Given the description of an element on the screen output the (x, y) to click on. 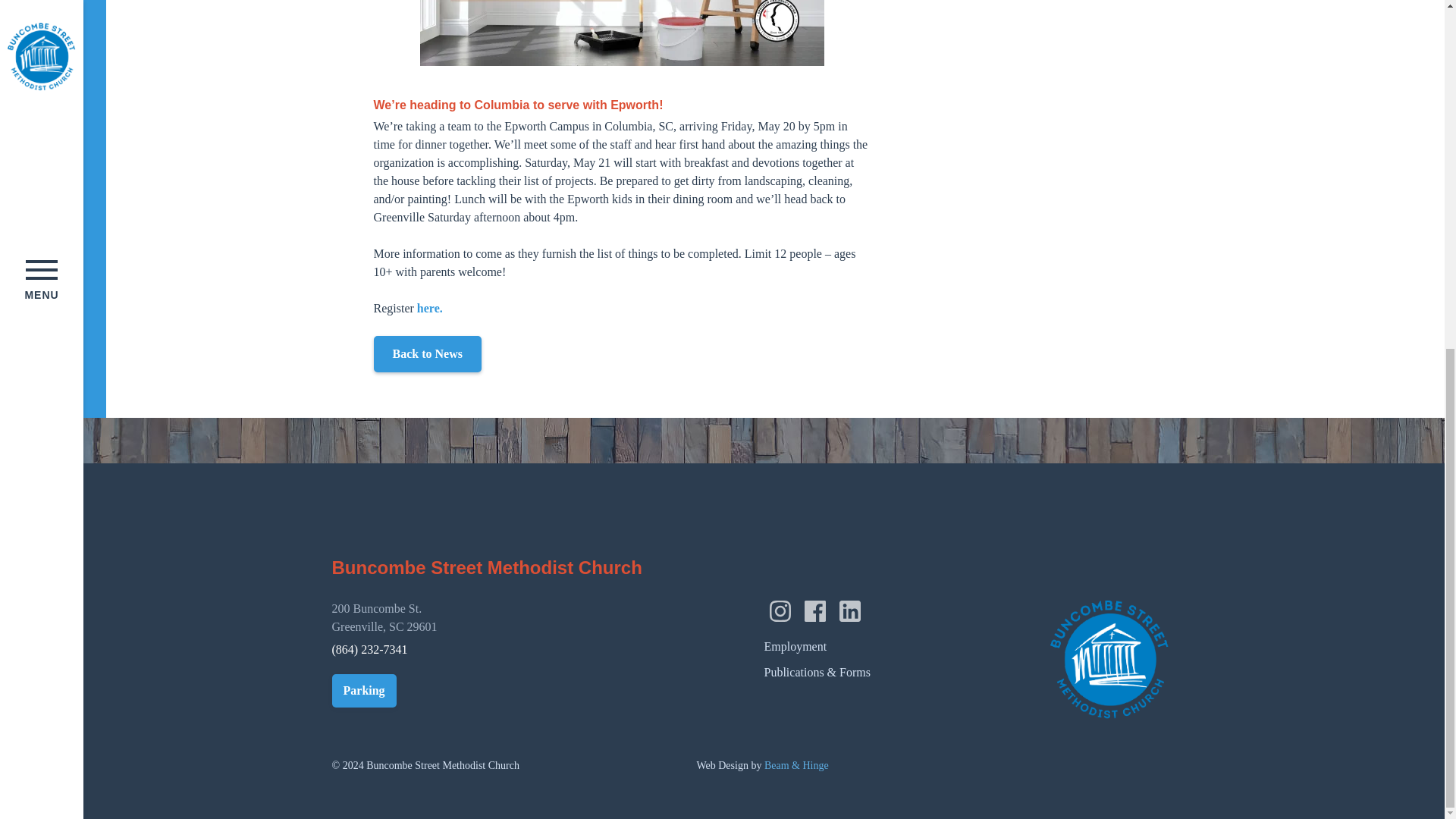
Web development in Columbia, SC (761, 765)
